Given the description of an element on the screen output the (x, y) to click on. 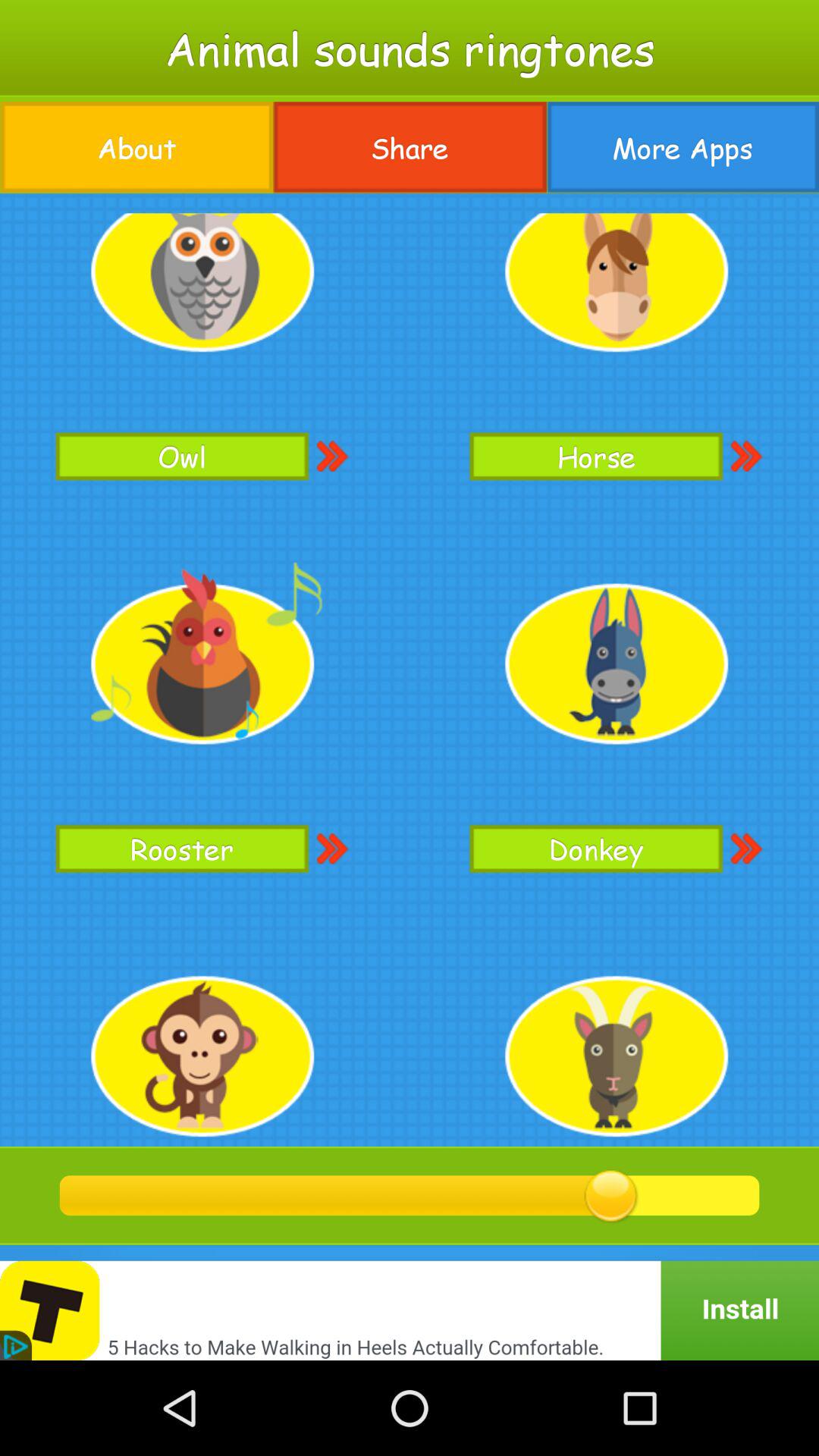
choose the icon below the animal sounds ringtones (682, 147)
